Given the description of an element on the screen output the (x, y) to click on. 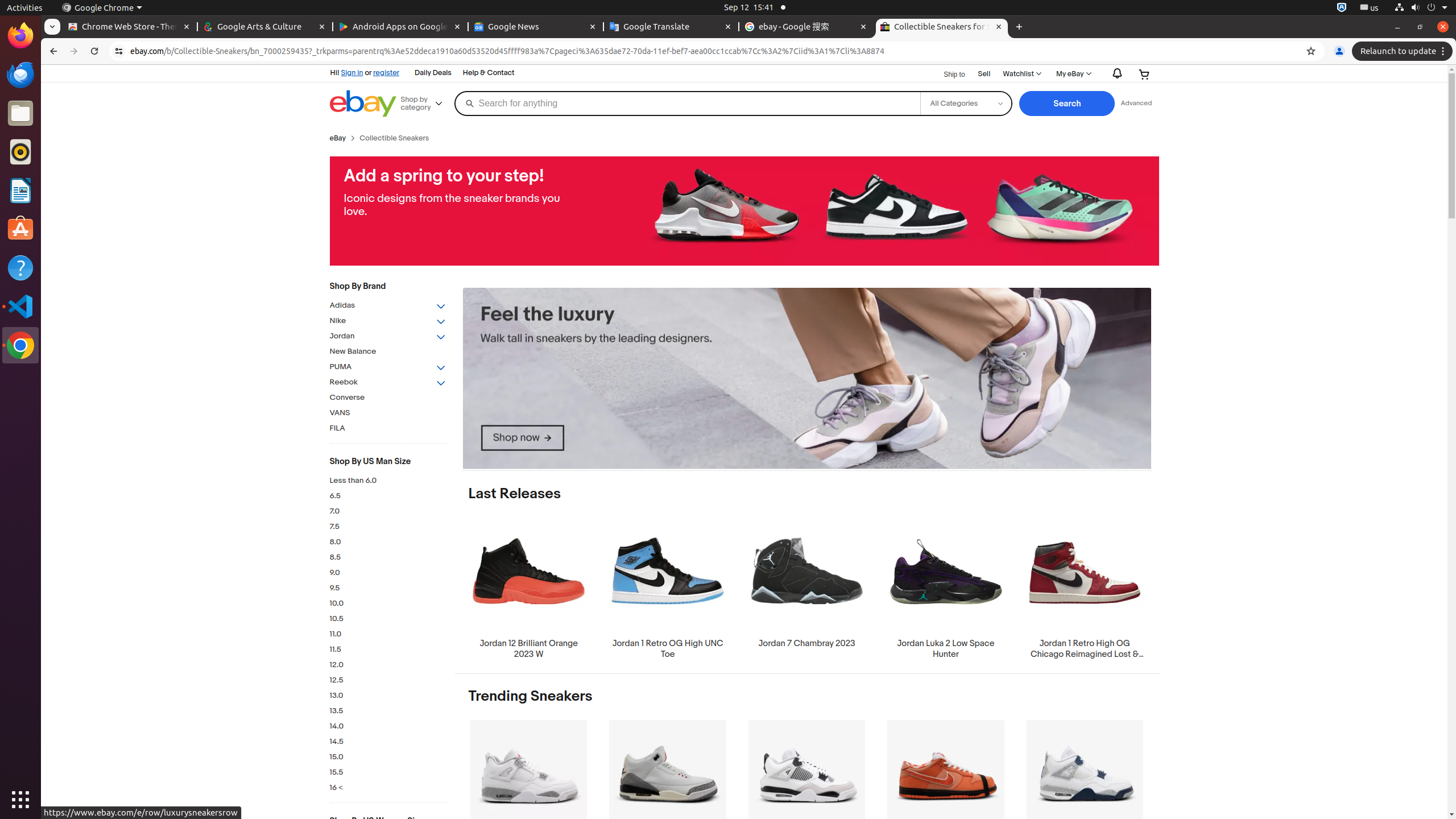
14.0 Element type: link (387, 726)
12.0 Element type: link (387, 664)
Back Element type: push-button (51, 50)
You Element type: push-button (1339, 50)
Converse Element type: link (387, 397)
